Given the description of an element on the screen output the (x, y) to click on. 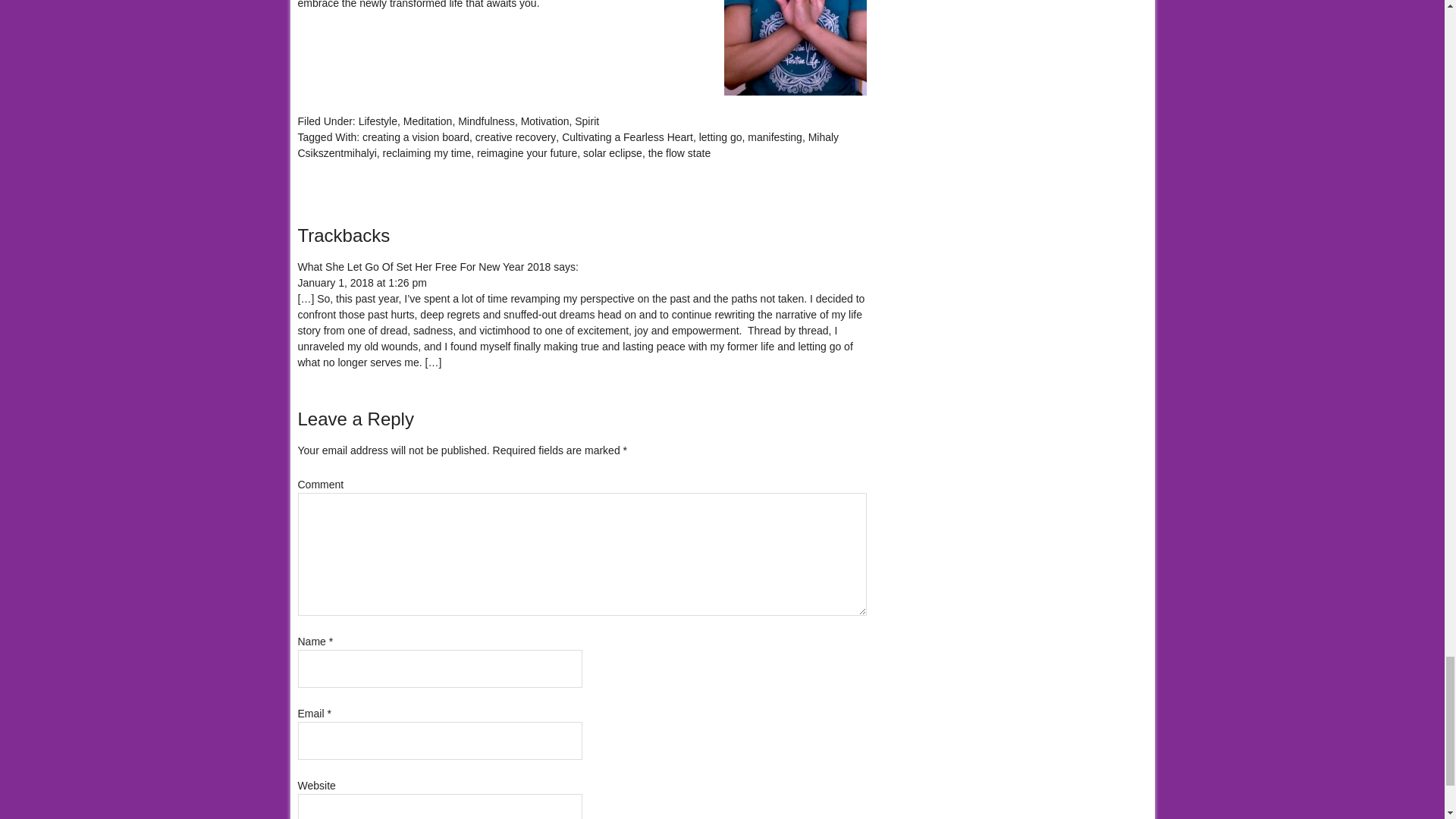
Spirit (586, 121)
creating a vision board (415, 137)
Mindfulness (486, 121)
Motivation (545, 121)
manifesting (775, 137)
reimagine your future (526, 152)
creative recovery (516, 137)
letting go (720, 137)
solar eclipse (612, 152)
Mihaly Csikszentmihalyi (567, 144)
